Given the description of an element on the screen output the (x, y) to click on. 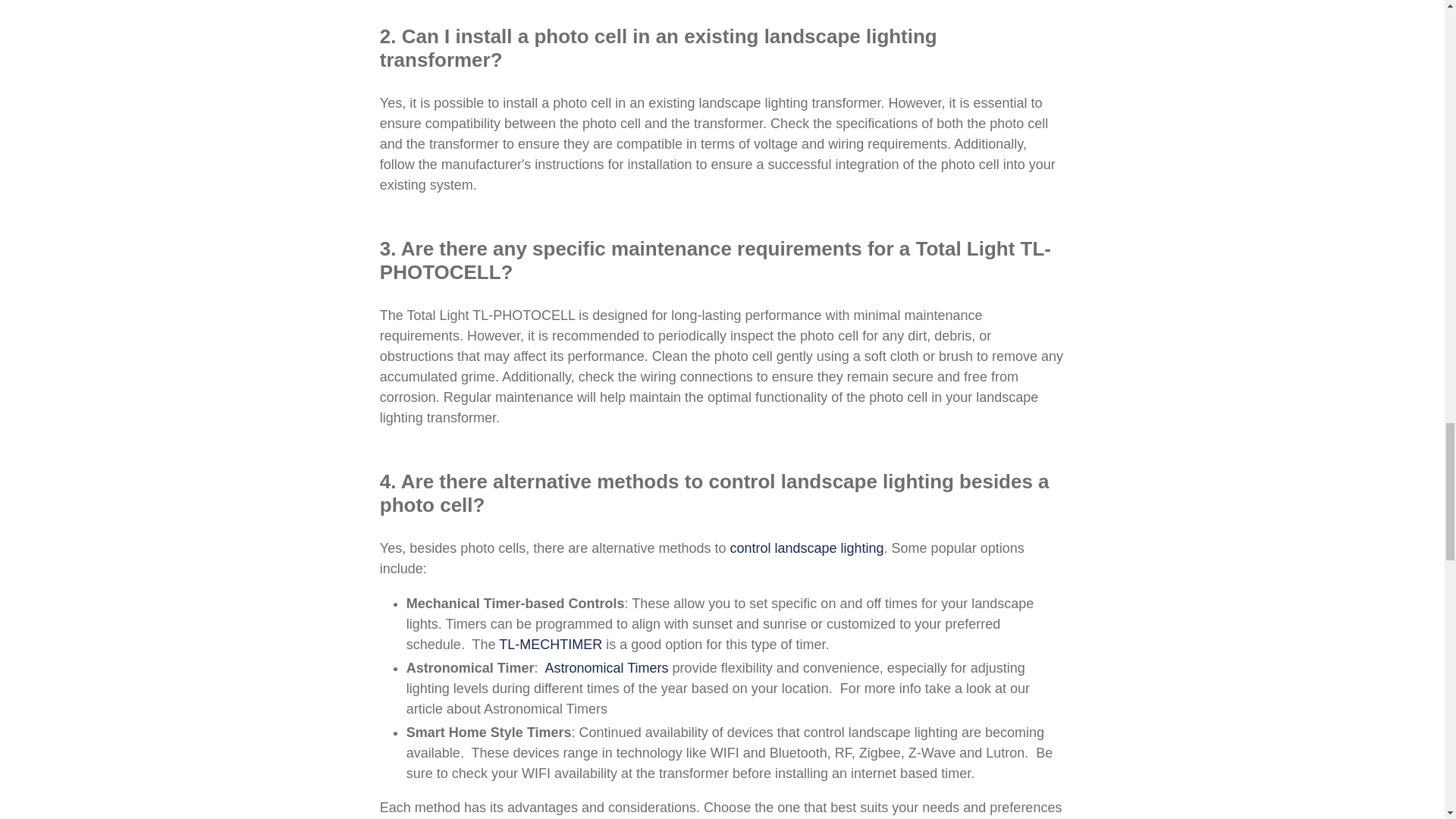
CS-ART Astronomical Timer (606, 668)
TL-MECHTIMER Mechanical Timer (550, 644)
benefits of using an astronomical timer (806, 548)
